Given the description of an element on the screen output the (x, y) to click on. 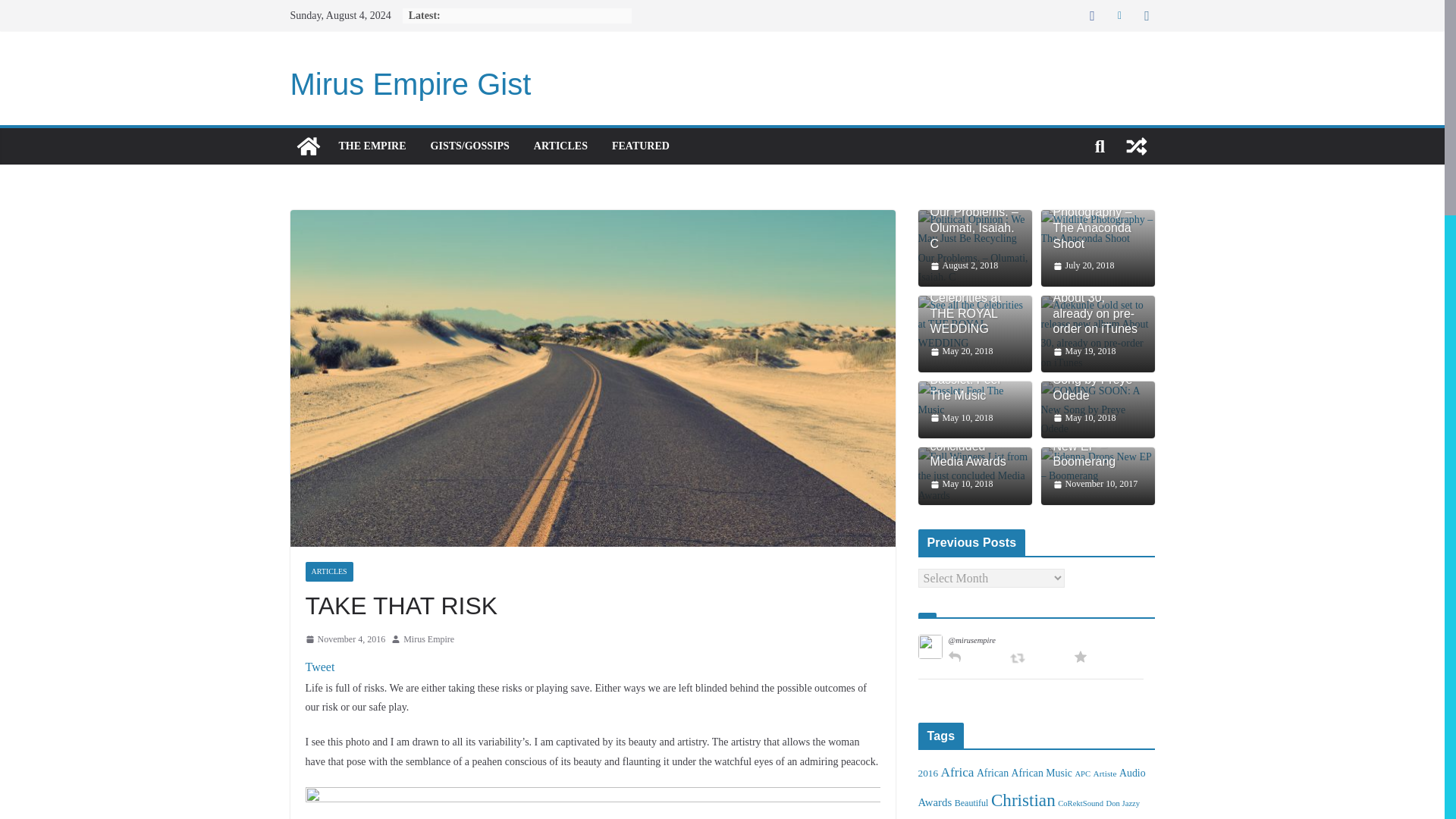
11:29 am (344, 639)
November 4, 2016 (344, 639)
Mirus Empire Gist (307, 145)
FEATURED (640, 146)
ARTICLES (328, 571)
Tweet (319, 666)
Mirus Empire (428, 639)
Mirus Empire Gist (410, 83)
Mirus Empire Gist (410, 83)
THE EMPIRE (371, 146)
Mirus Empire (428, 639)
ARTICLES (561, 146)
View a random post (1136, 145)
